Given the description of an element on the screen output the (x, y) to click on. 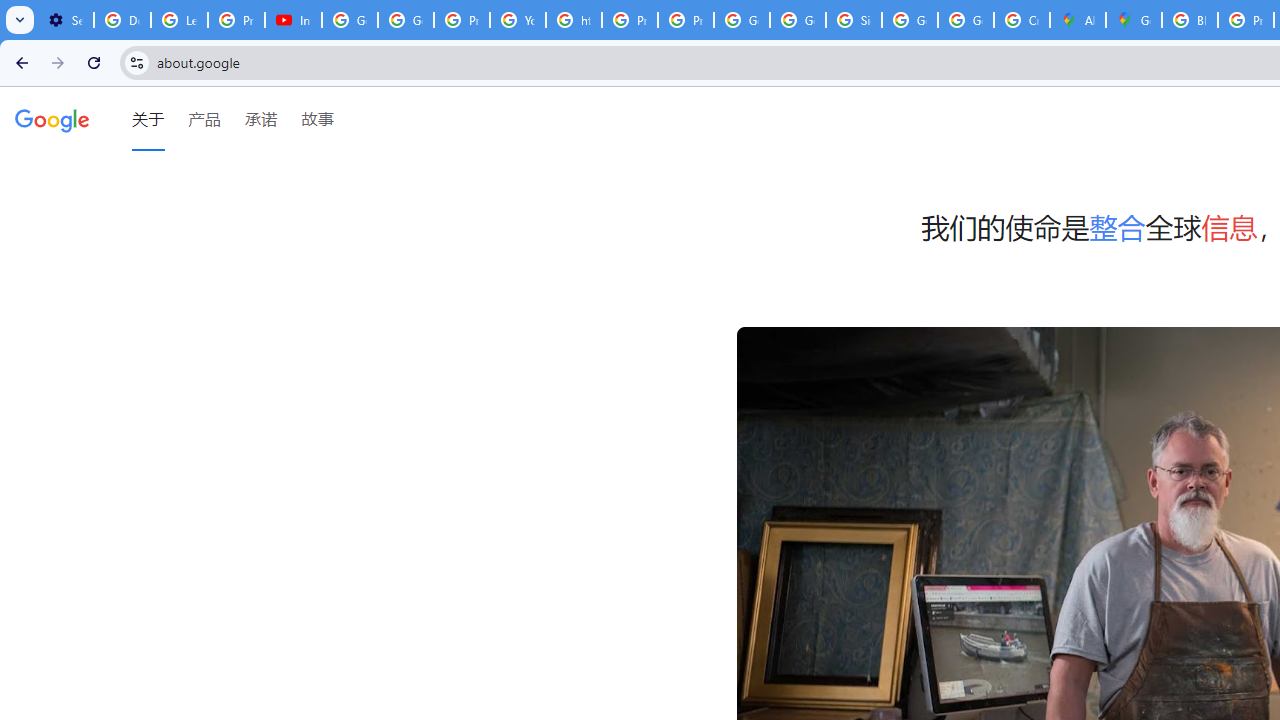
Google Maps (1133, 20)
Settings - Customize profile (65, 20)
Delete photos & videos - Computer - Google Photos Help (122, 20)
